Given the description of an element on the screen output the (x, y) to click on. 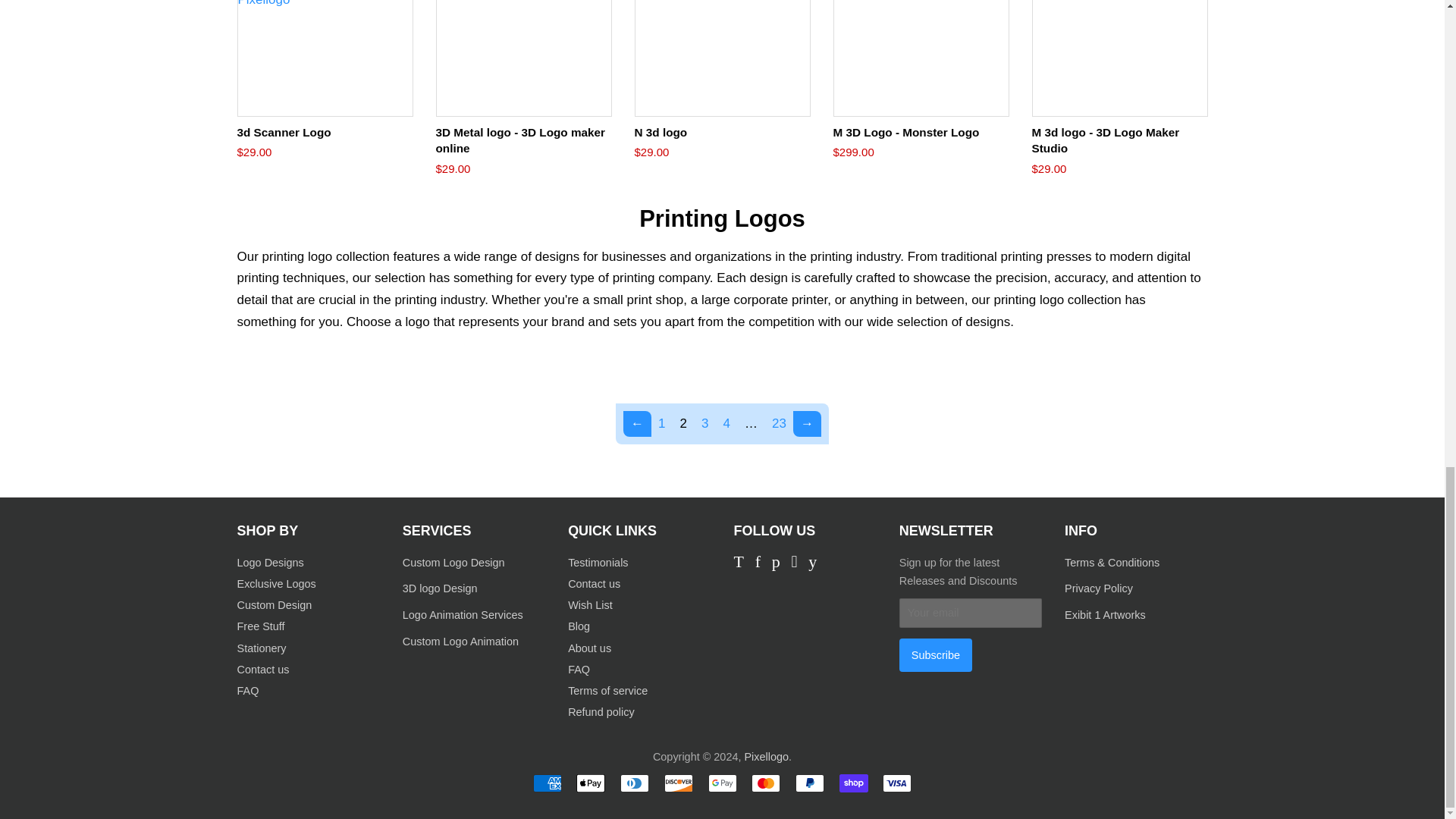
Custom Logo Design (454, 562)
Apple Pay (590, 782)
Google Pay (721, 782)
American Express (547, 782)
Subscribe (935, 654)
Visa (896, 782)
Privacy Policy (1099, 588)
Shop Pay (853, 782)
Discover (678, 782)
Mastercard (765, 782)
Custom Logo Animation Makers (462, 614)
Logo Animation Services (460, 641)
Diners Club (634, 782)
3D Logo Maker (440, 588)
PayPal (809, 782)
